Given the description of an element on the screen output the (x, y) to click on. 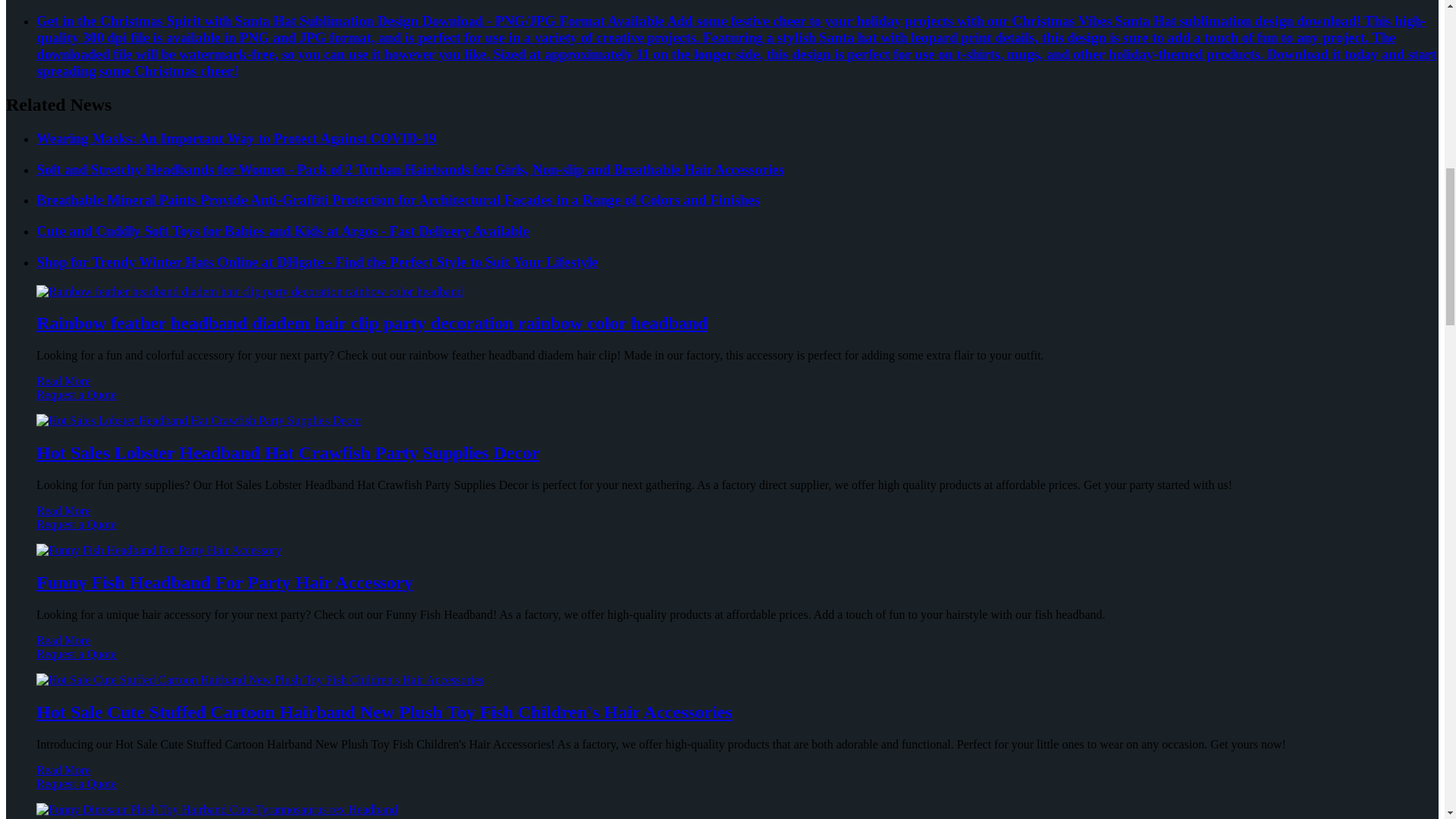
Read More (63, 380)
Request a Quote (721, 401)
